Given the description of an element on the screen output the (x, y) to click on. 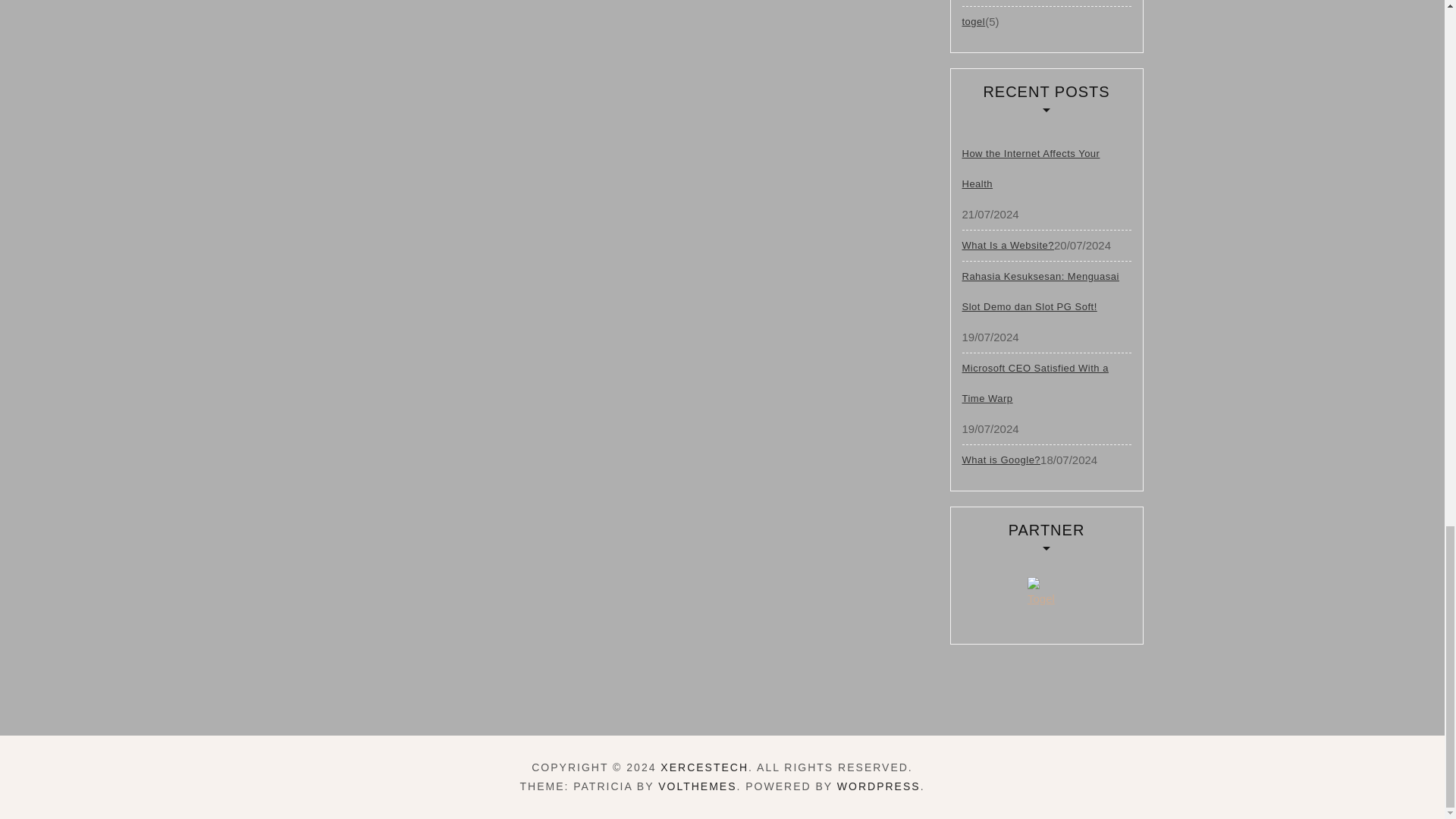
Xercestech (704, 767)
Togel Hari Ini (1046, 594)
VolThemes (697, 785)
WordPress (878, 785)
